Given the description of an element on the screen output the (x, y) to click on. 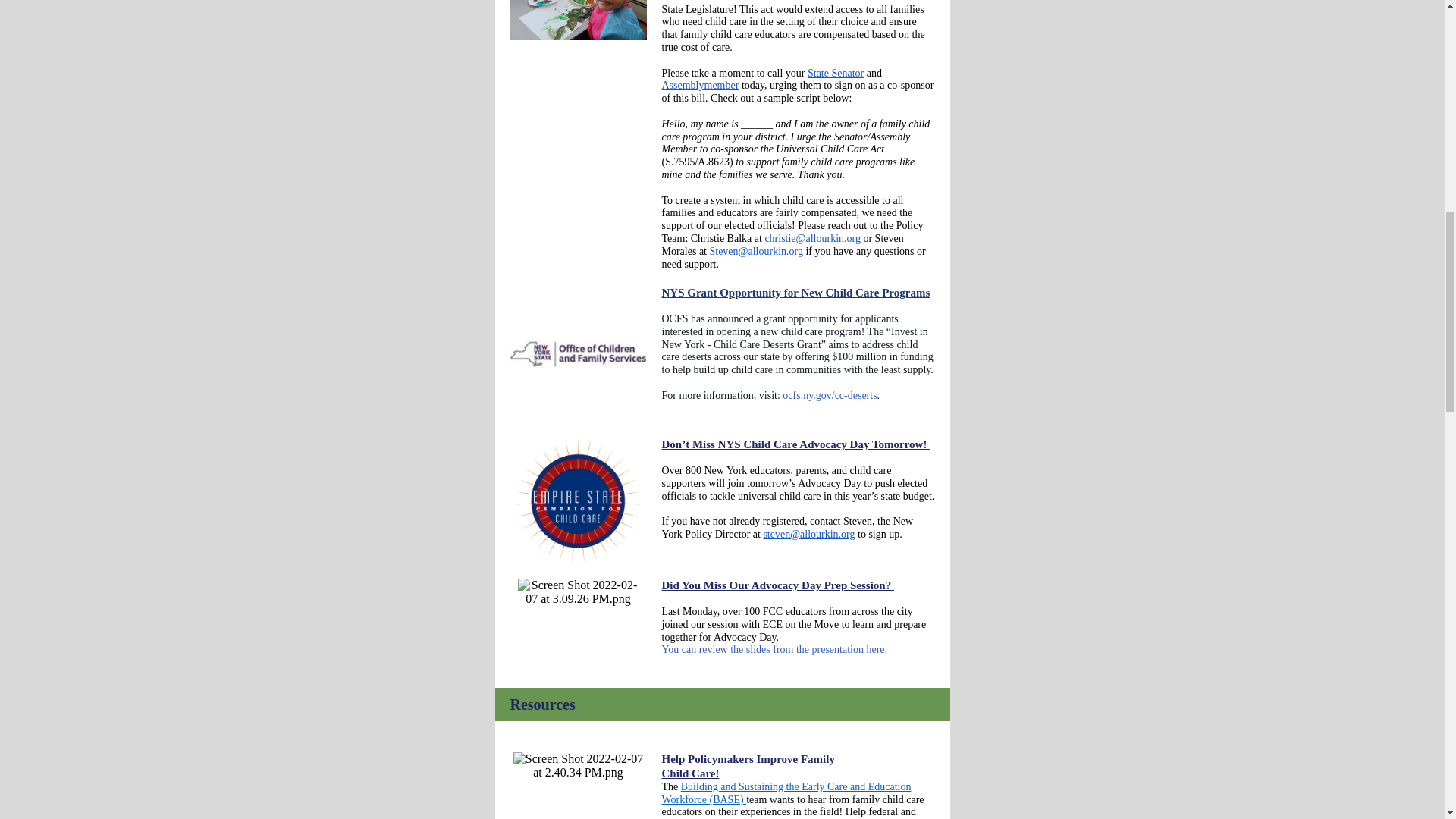
State Senator (835, 72)
You can review the slides from the presentation here. (773, 649)
Assemblymember (699, 84)
